Given the description of an element on the screen output the (x, y) to click on. 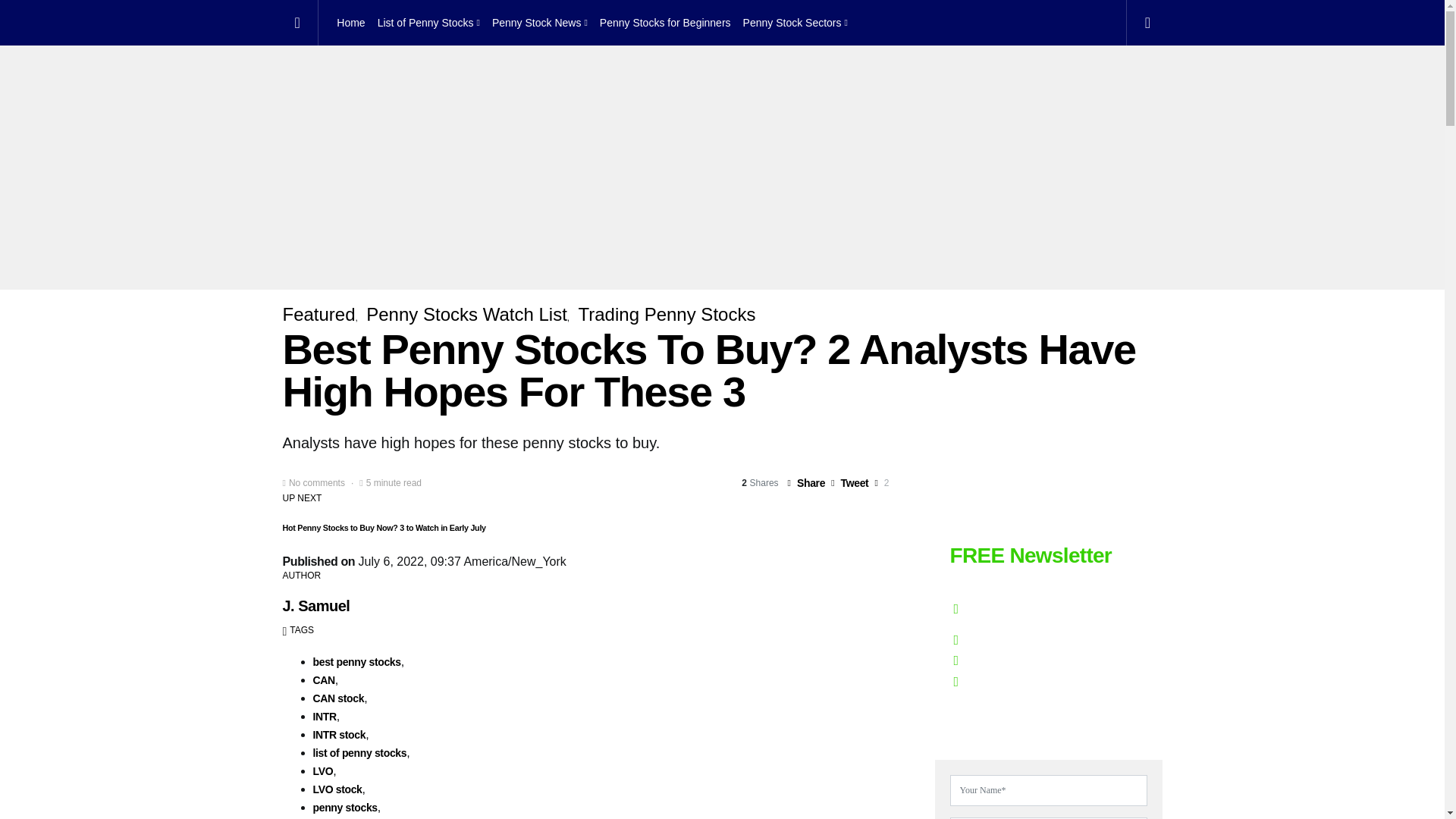
Penny Stock Sectors (791, 22)
Penny Stocks for Beginners (665, 22)
Penny Stock News (540, 22)
List of Penny Stocks (428, 22)
